Given the description of an element on the screen output the (x, y) to click on. 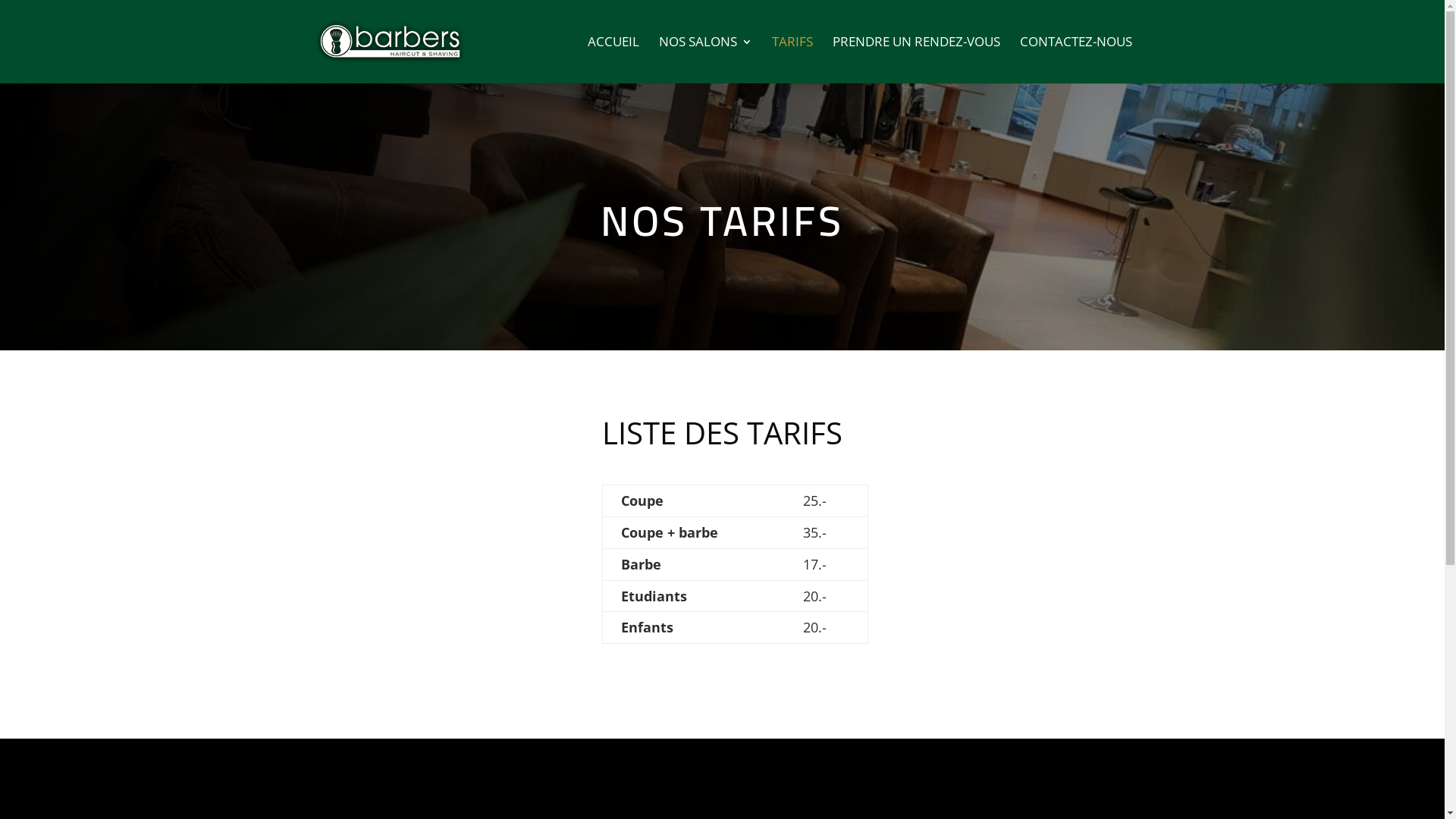
TARIFS Element type: text (791, 59)
ACCUEIL Element type: text (612, 59)
NOS SALONS Element type: text (704, 59)
PRENDRE UN RENDEZ-VOUS Element type: text (916, 59)
CONTACTEZ-NOUS Element type: text (1075, 59)
